Given the description of an element on the screen output the (x, y) to click on. 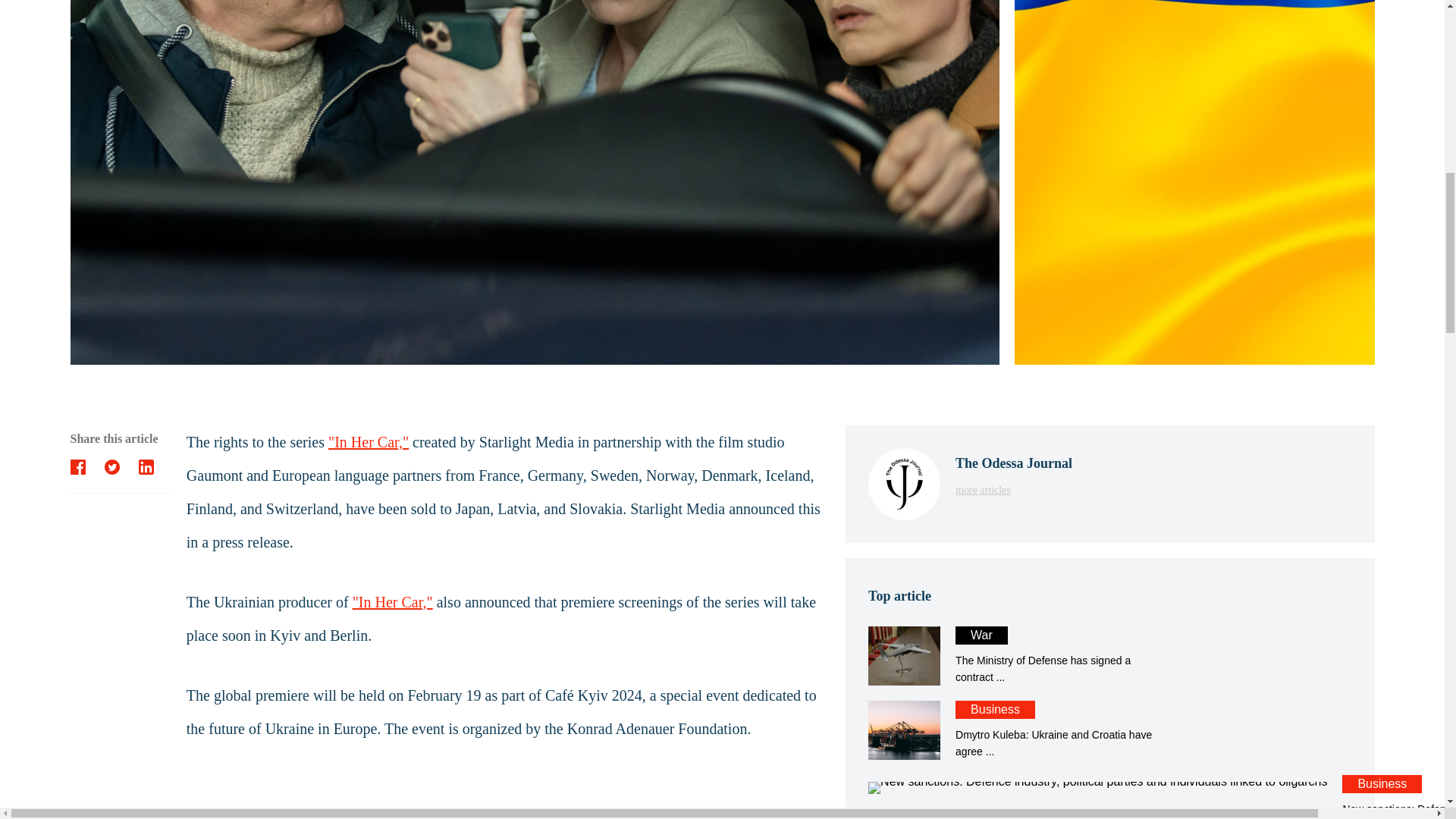
"In Her Car," (392, 600)
Read (1109, 796)
Read (1109, 730)
"In Her Car," (1109, 655)
more articles (1109, 655)
Read (369, 442)
more articles (1013, 489)
